Given the description of an element on the screen output the (x, y) to click on. 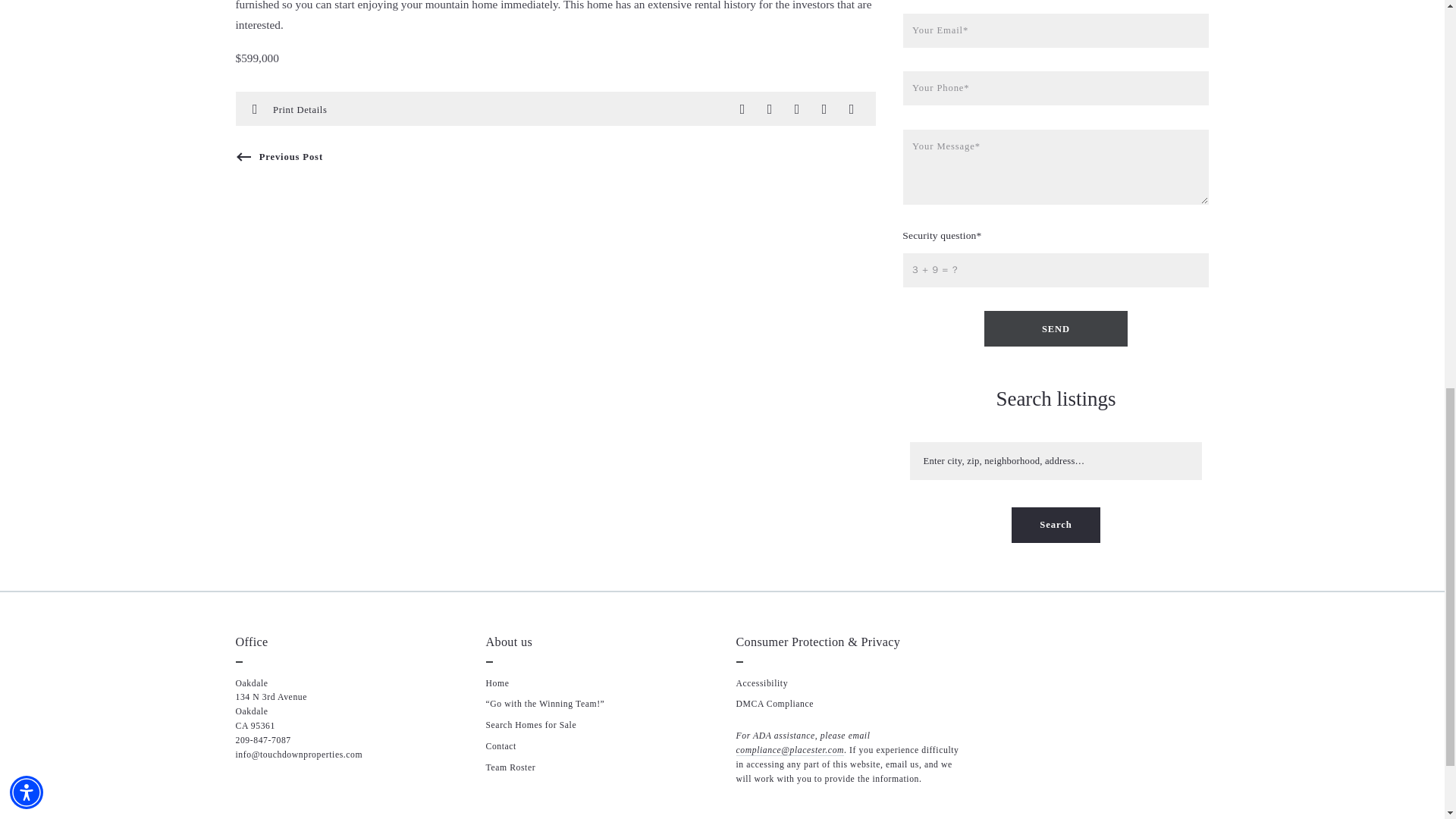
Accessibility (761, 683)
Contact (499, 746)
DMCA Compliance (774, 704)
Previous Post (277, 156)
SEND (1055, 328)
Home (496, 683)
Team Roster (509, 767)
Search (1055, 524)
Print Details (300, 108)
209-847-7087 (261, 740)
Search Homes for Sale (530, 725)
